Given the description of an element on the screen output the (x, y) to click on. 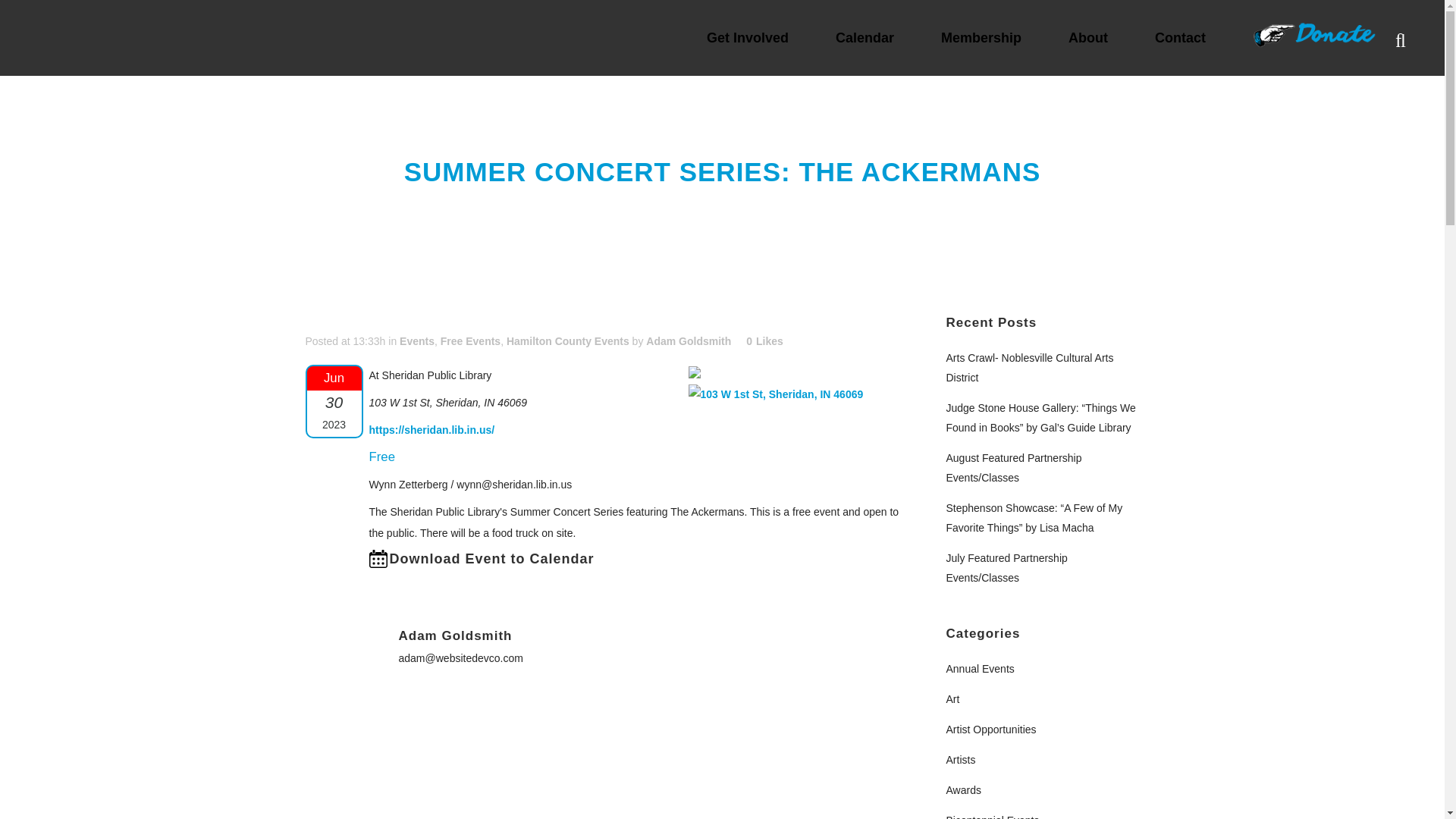
Download Event to Calendar (481, 558)
Arts Crawl- Noblesville Cultural Arts District (1029, 368)
Membership (991, 35)
Get Involved (758, 35)
About (1098, 35)
Free Events (470, 340)
Contact (1190, 35)
Events (415, 340)
Hamilton County Events (567, 340)
Adam Goldsmith (688, 340)
